Given the description of an element on the screen output the (x, y) to click on. 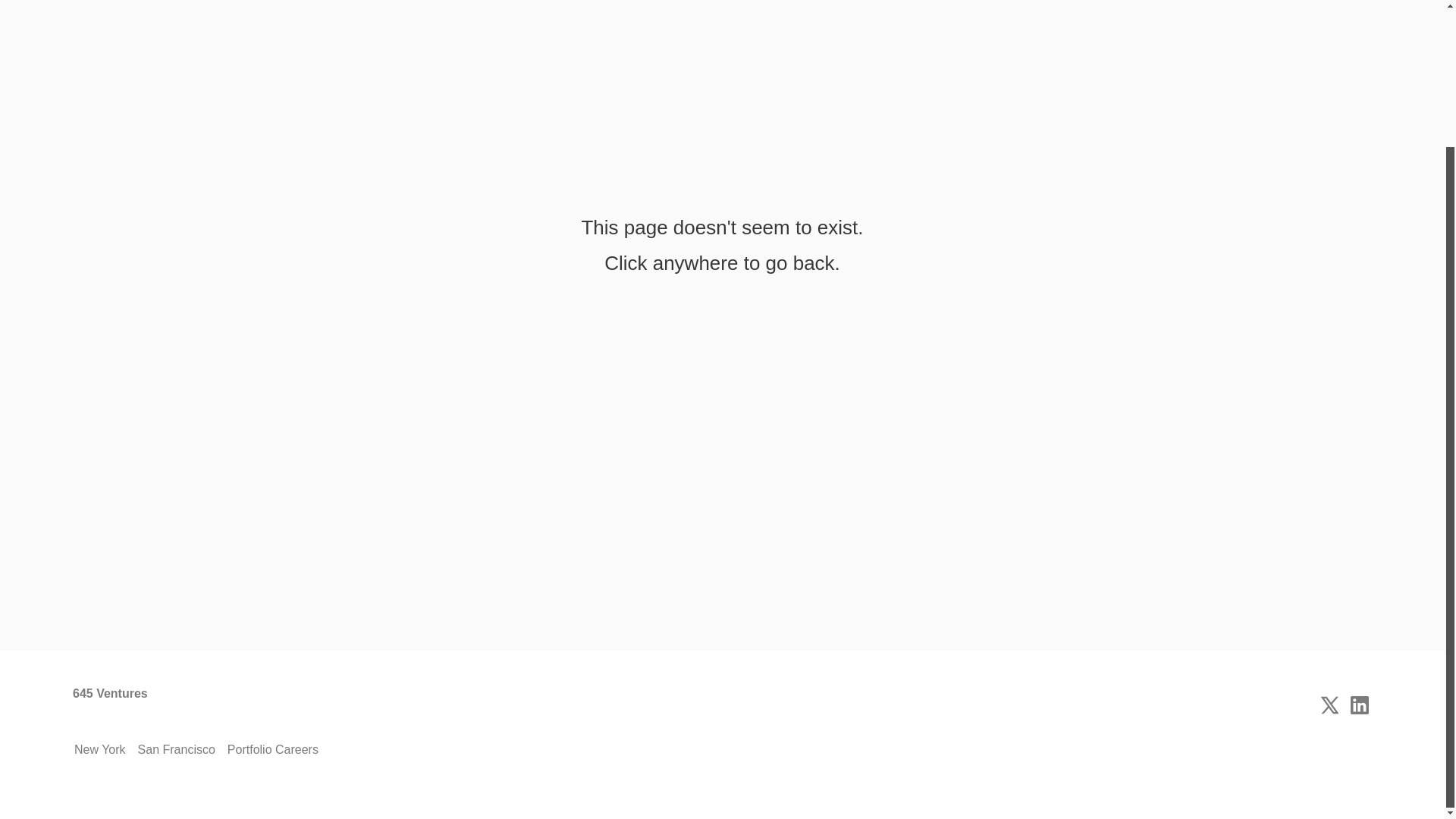
LinkedIn (1359, 705)
San Francisco (176, 750)
645 Ventures (110, 705)
Portfolio Careers (272, 750)
X (1329, 705)
New York (100, 750)
LinkedIn (1359, 705)
X (1329, 705)
